Given the description of an element on the screen output the (x, y) to click on. 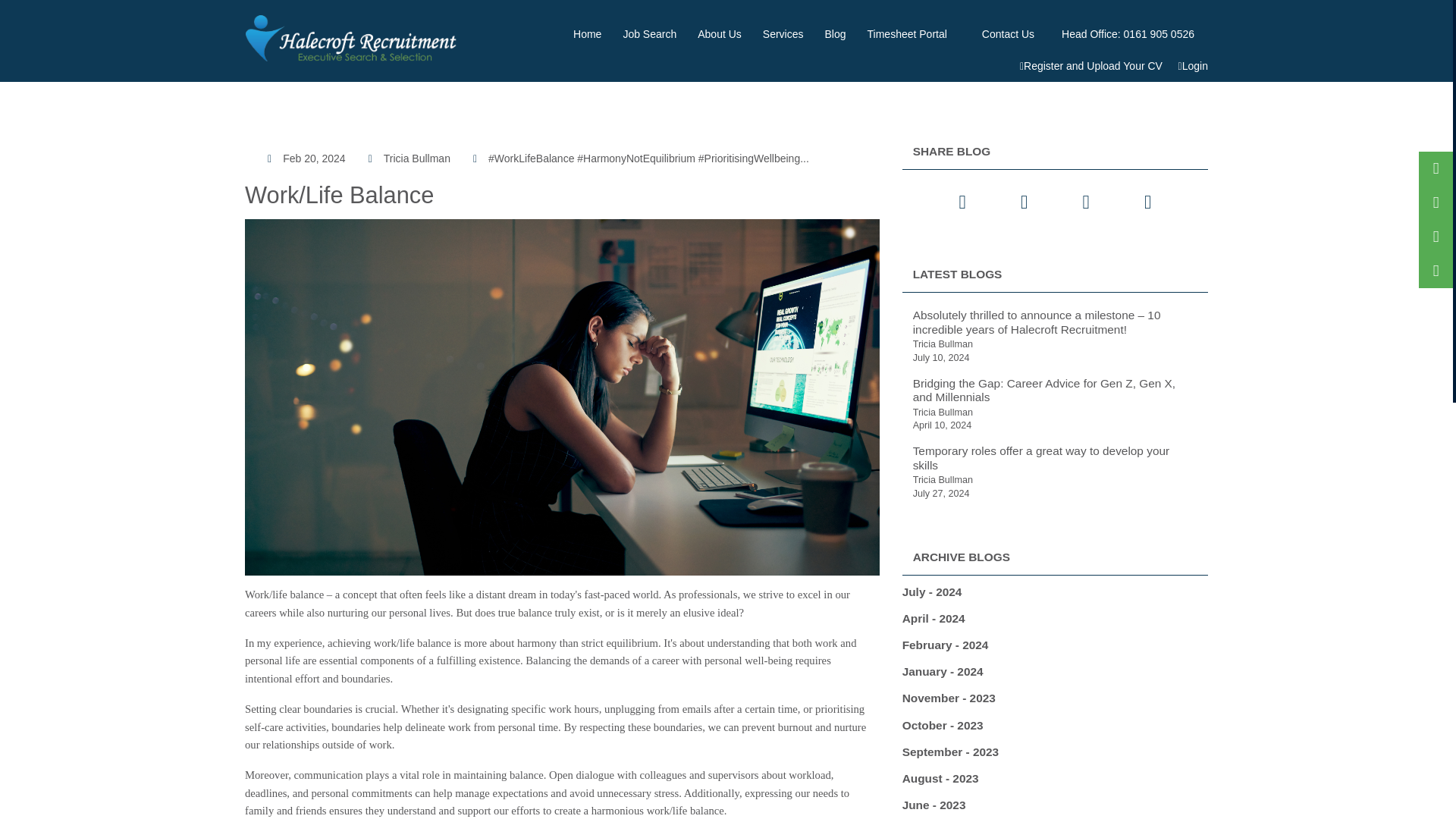
Home (586, 33)
About Us (719, 33)
Email (1146, 201)
Twitter (962, 201)
Contact Us (1008, 33)
Head Office: 0161 905 0526 (1128, 33)
Halecroft Recruitment (352, 38)
Services (782, 33)
LinkedIn (1085, 201)
Job Search (649, 33)
Facebook (1023, 201)
